Given the description of an element on the screen output the (x, y) to click on. 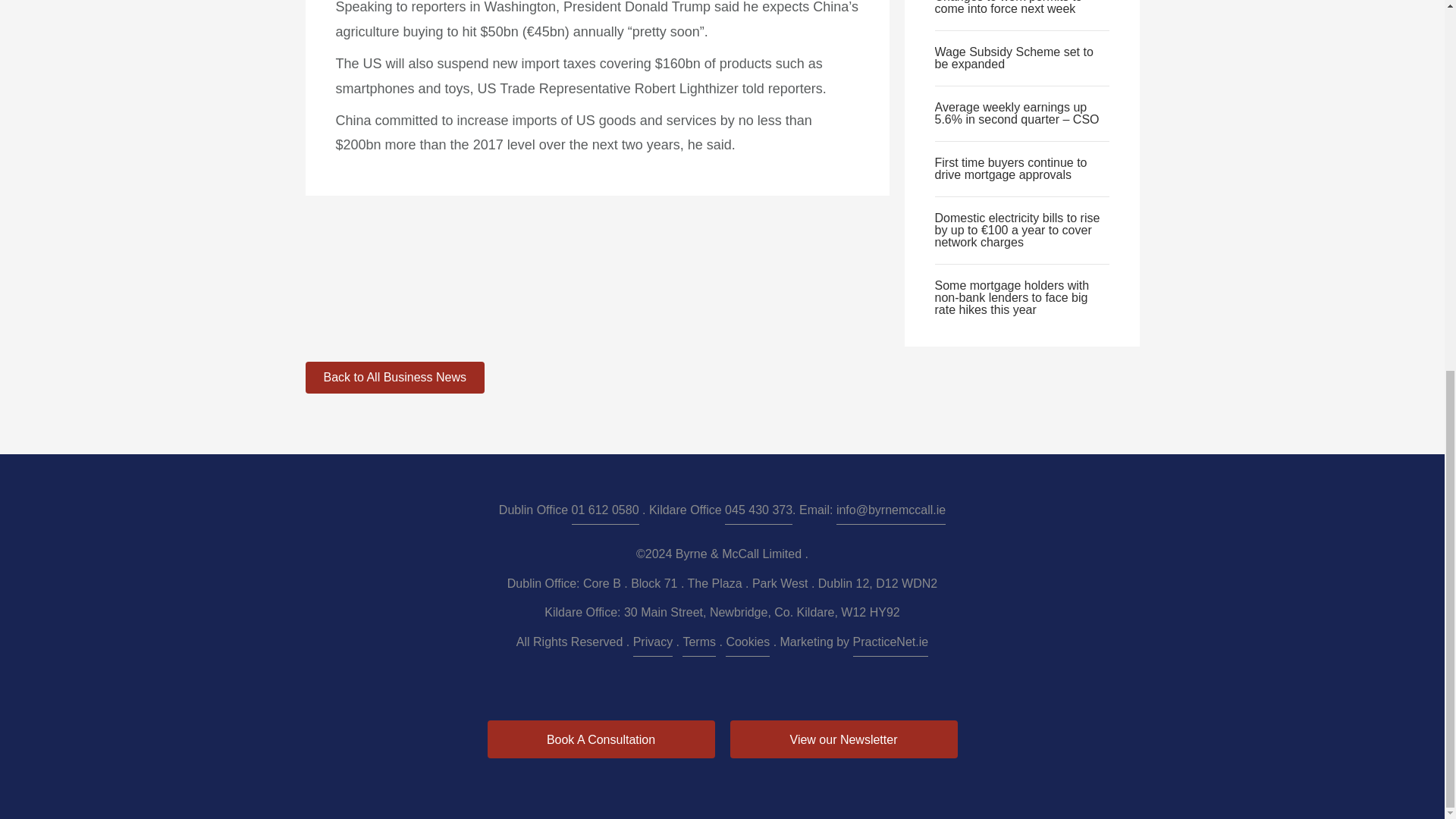
Wage Subsidy Scheme set to be expanded (1013, 57)
Changes to work permits to come into force next week (1007, 7)
First time buyers continue to drive mortgage approvals (1010, 168)
Wage Subsidy Scheme set to be expanded (1013, 57)
Changes to work permits to come into force next week (1007, 7)
